Given the description of an element on the screen output the (x, y) to click on. 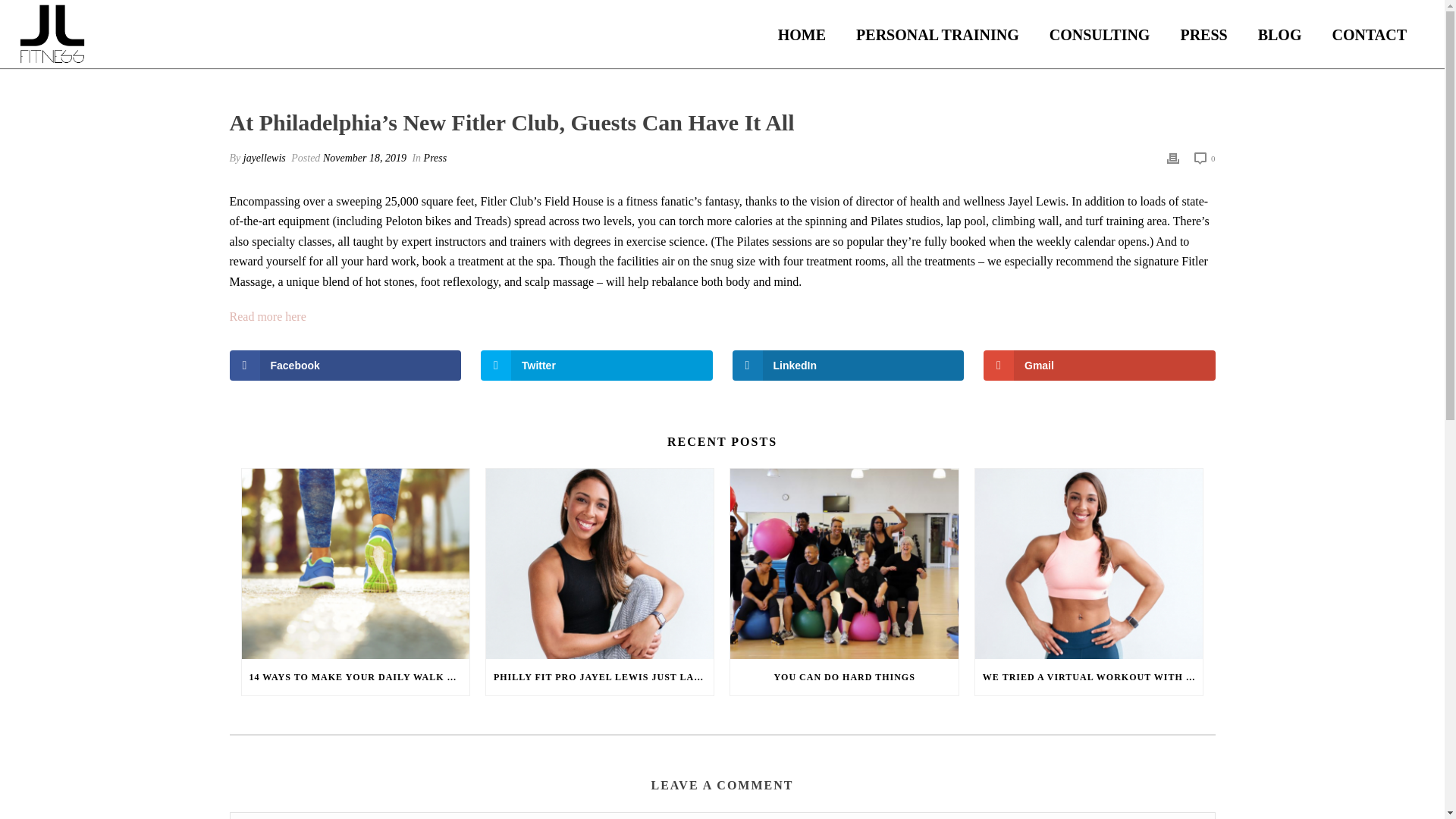
CONTACT (1369, 34)
PERSONAL TRAINING (937, 34)
0 (1203, 158)
BLOG (1280, 34)
YOU CAN DO HARD THINGS (844, 677)
CONTACT (1369, 34)
PRESS (1202, 34)
LinkedIn (847, 365)
November 18, 2019 (364, 157)
You Can Do Hard Things (844, 563)
Posts by jayellewis (264, 157)
CONSULTING (1099, 34)
CONSULTING (1099, 34)
